Given the description of an element on the screen output the (x, y) to click on. 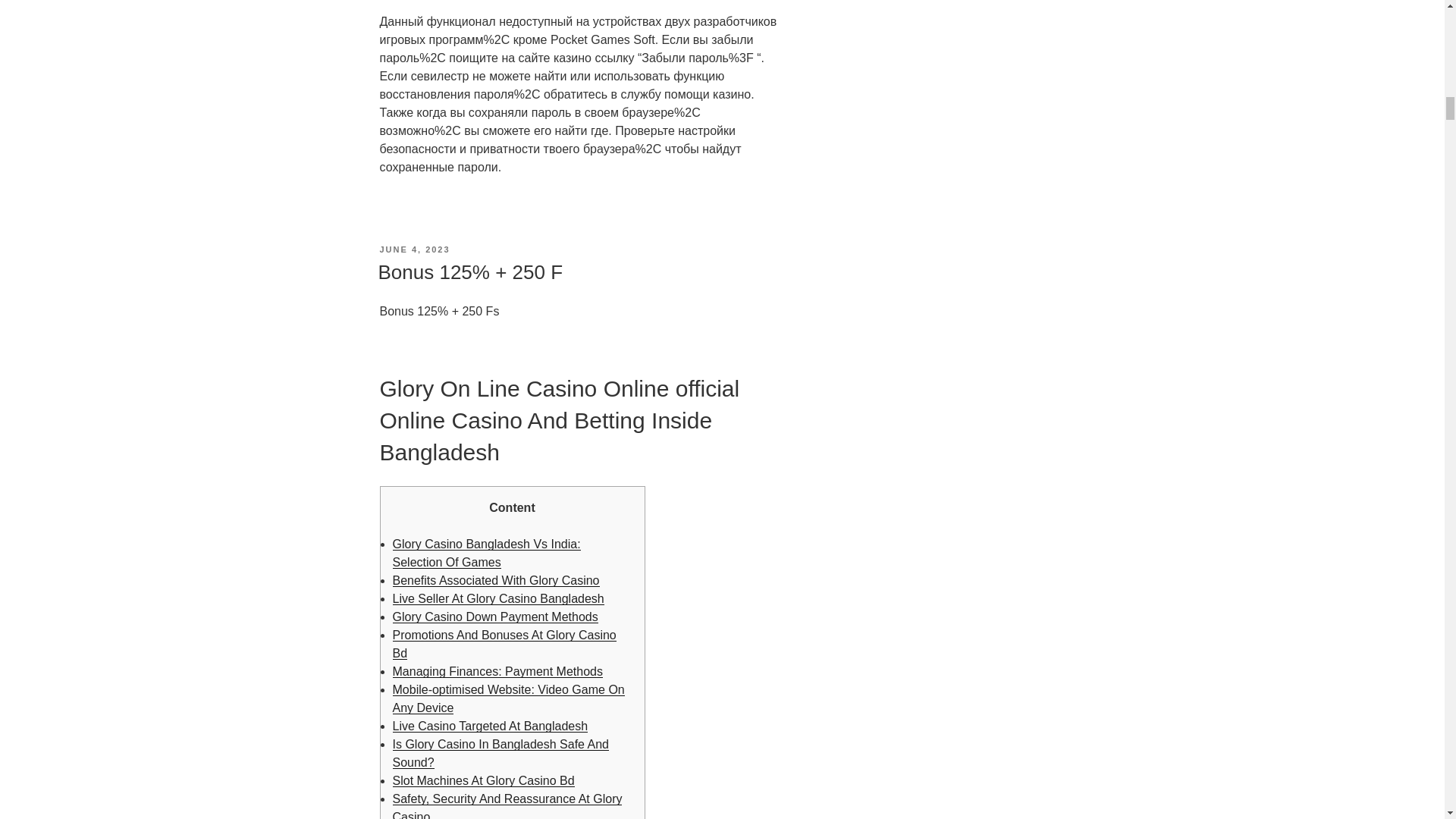
Benefits Associated With Glory Casino (496, 580)
JUNE 4, 2023 (413, 248)
Glory Casino Bangladesh Vs India: Selection Of Games (486, 552)
